Given the description of an element on the screen output the (x, y) to click on. 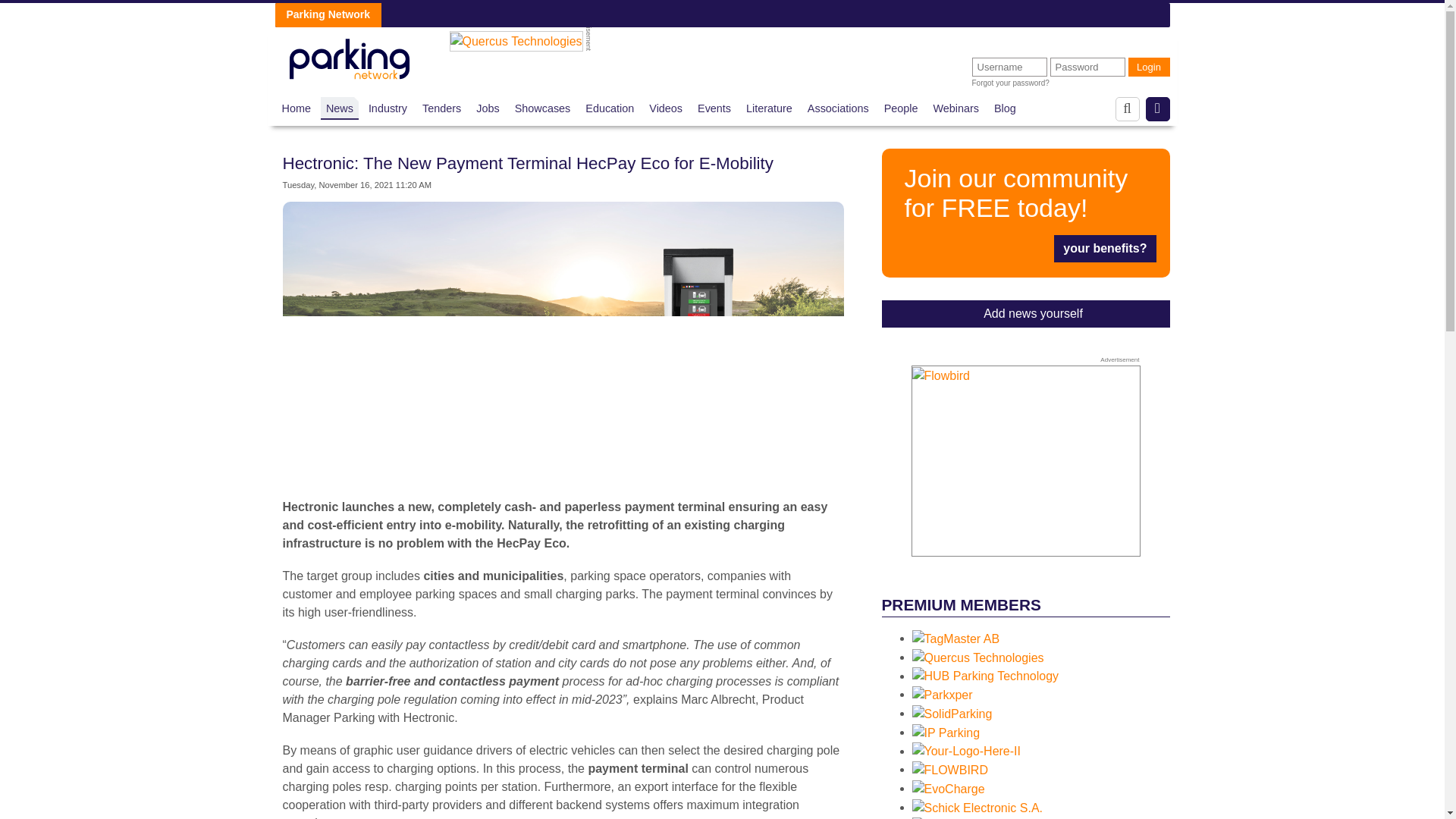
Jobs (487, 108)
Tenders (441, 108)
Associations (838, 108)
Home (296, 108)
Events (713, 108)
Reset your password (1010, 83)
Login (1149, 66)
Industry (387, 108)
Showcases (542, 108)
